Given the description of an element on the screen output the (x, y) to click on. 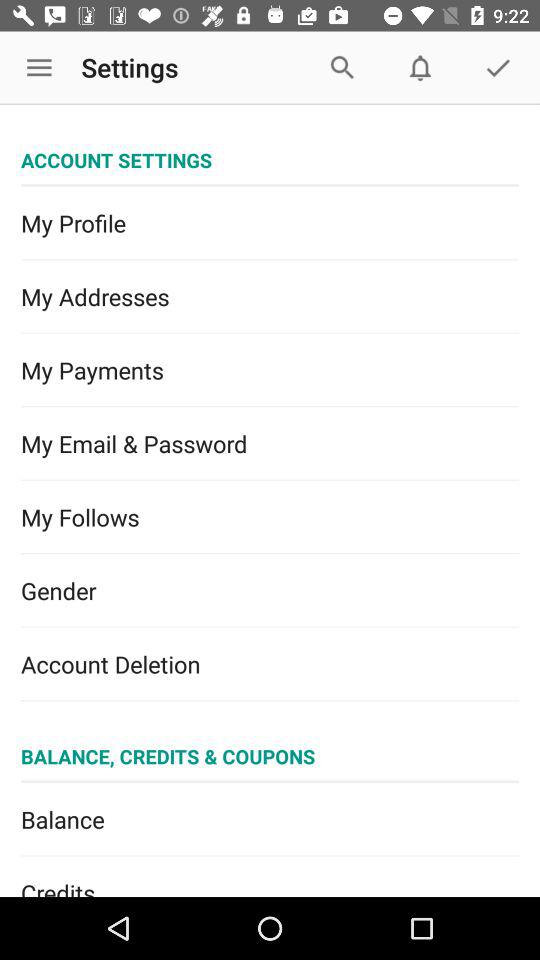
choose gender item (270, 590)
